Given the description of an element on the screen output the (x, y) to click on. 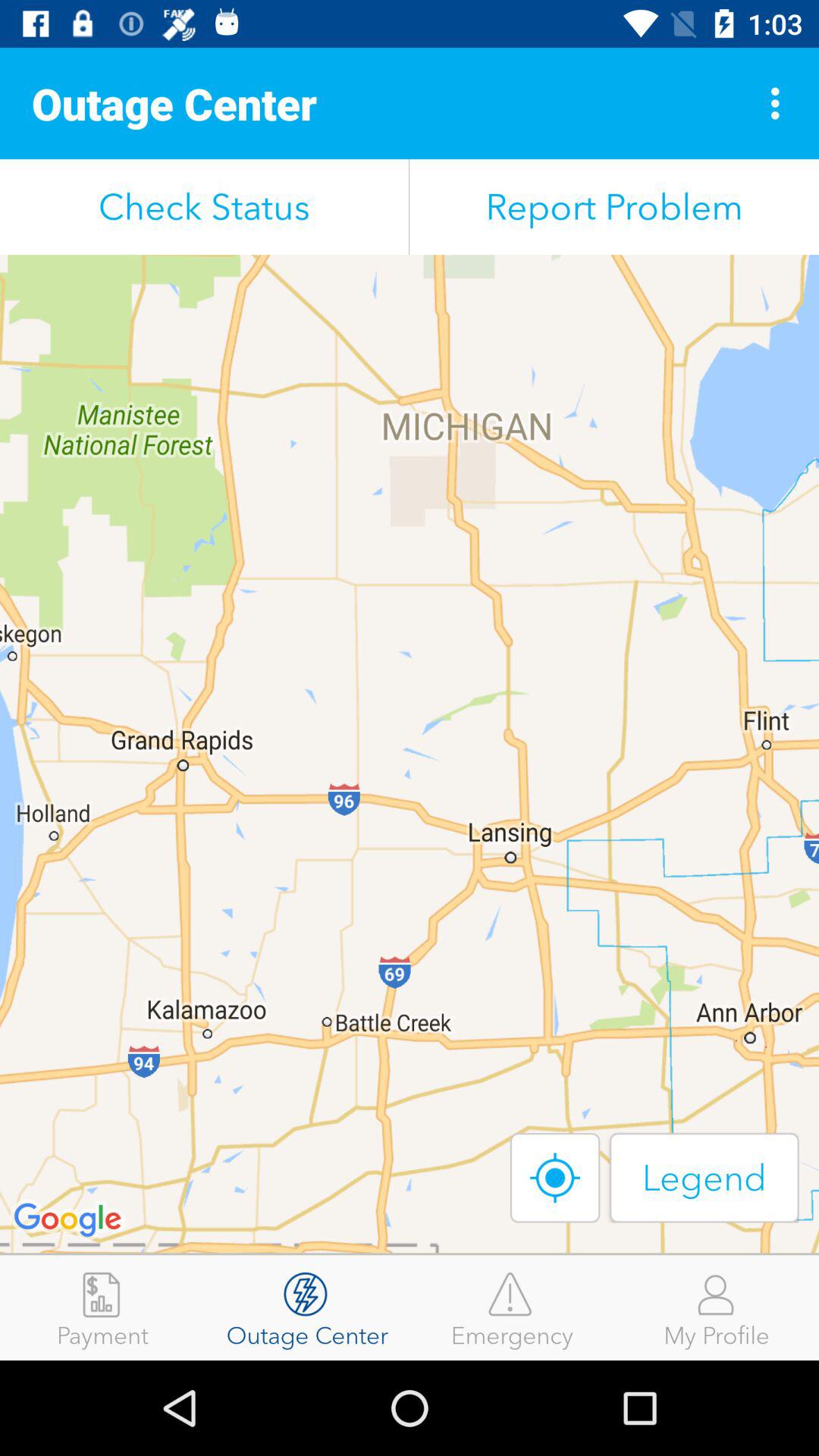
tap the item to the left of legend item (555, 1177)
